Given the description of an element on the screen output the (x, y) to click on. 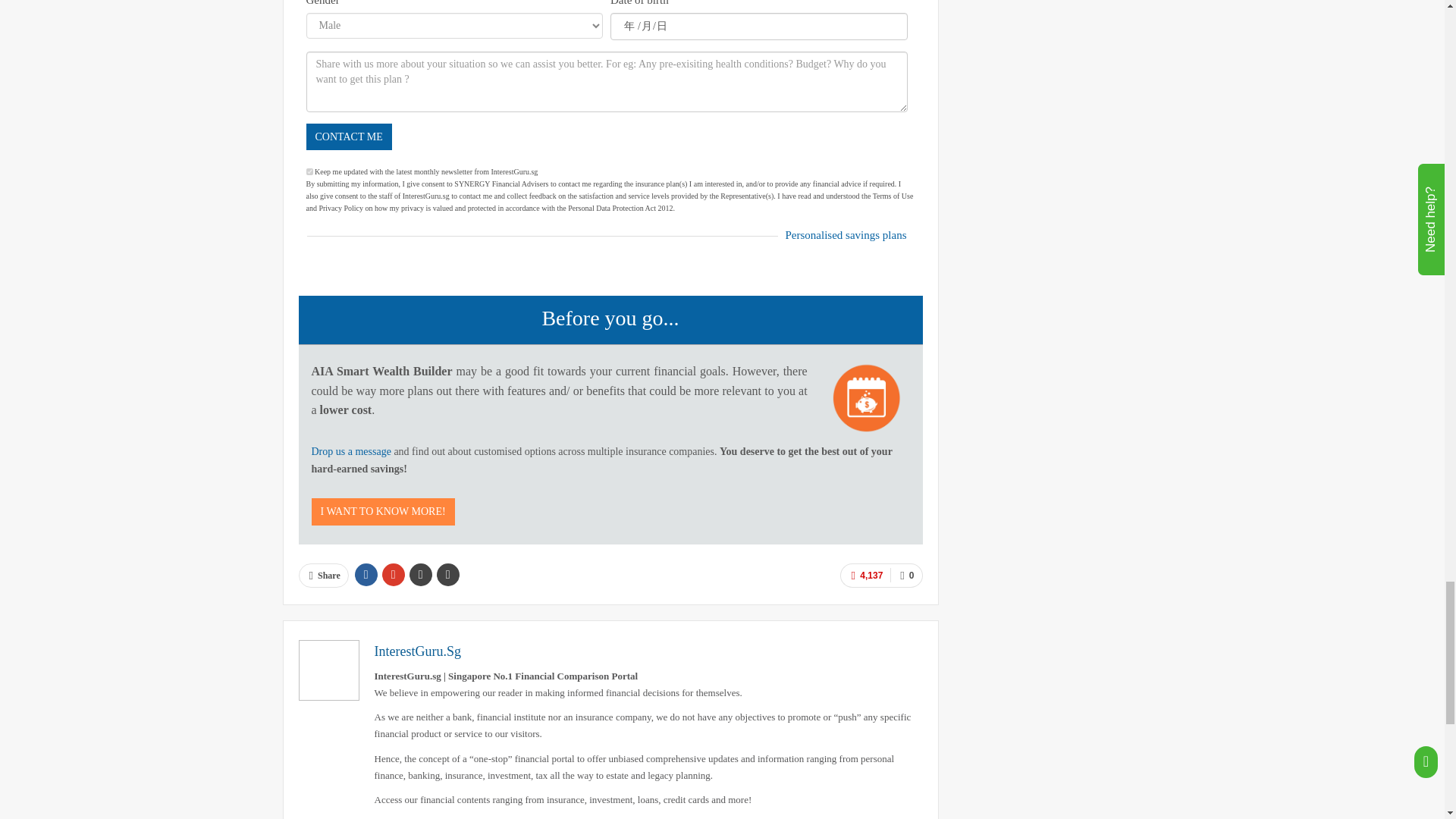
on (309, 171)
